Given the description of an element on the screen output the (x, y) to click on. 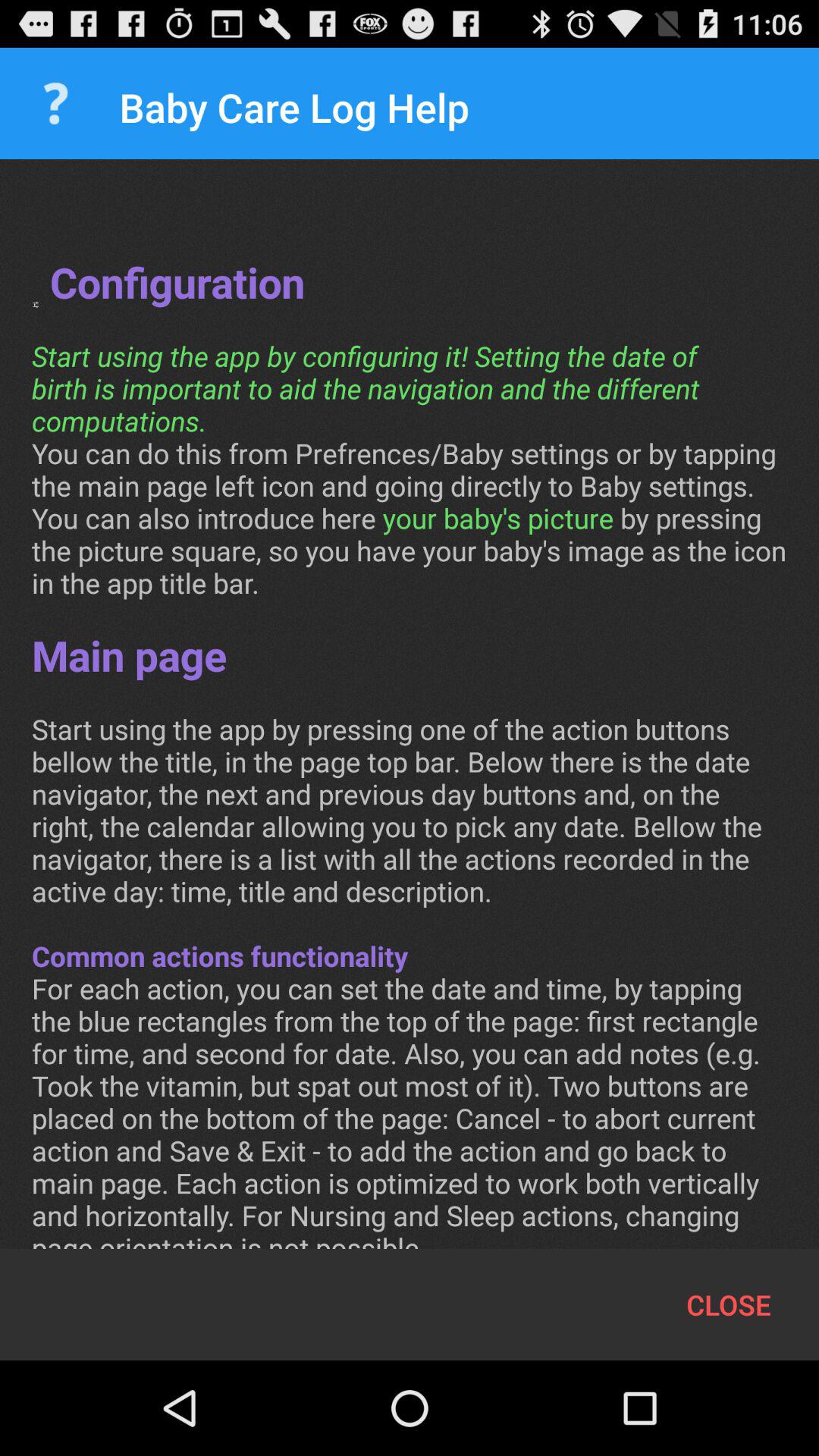
choose the item below conf configuration start item (728, 1304)
